Given the description of an element on the screen output the (x, y) to click on. 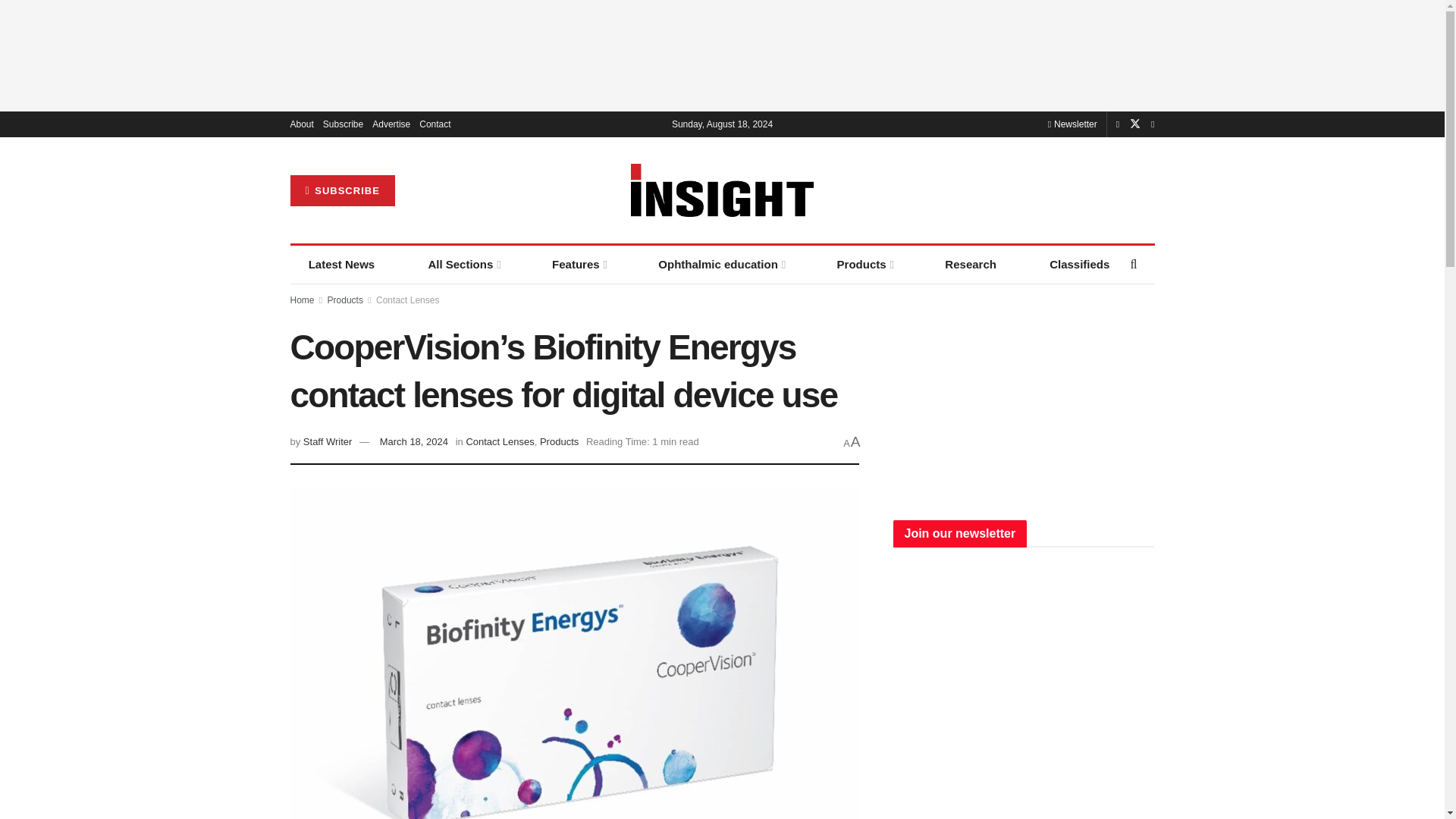
Latest News (341, 264)
About (301, 124)
Newsletter (1072, 123)
Advertise (391, 124)
3rd party ad content (1023, 394)
All Sections (462, 264)
SUBSCRIBE (341, 190)
Contact (434, 124)
Subscribe (342, 124)
3rd party ad content (721, 55)
